Given the description of an element on the screen output the (x, y) to click on. 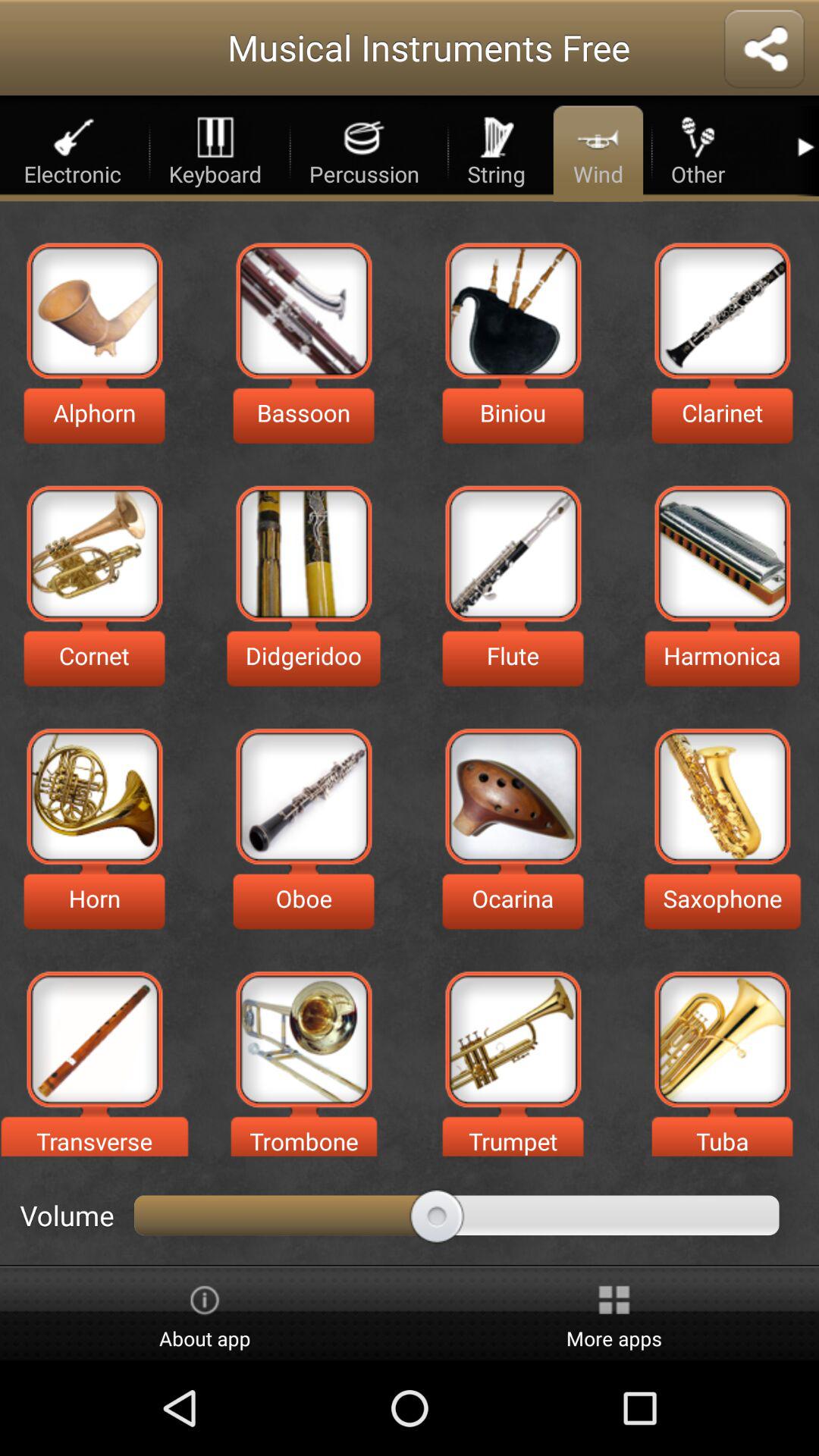
play the biniou instrument (513, 310)
